Given the description of an element on the screen output the (x, y) to click on. 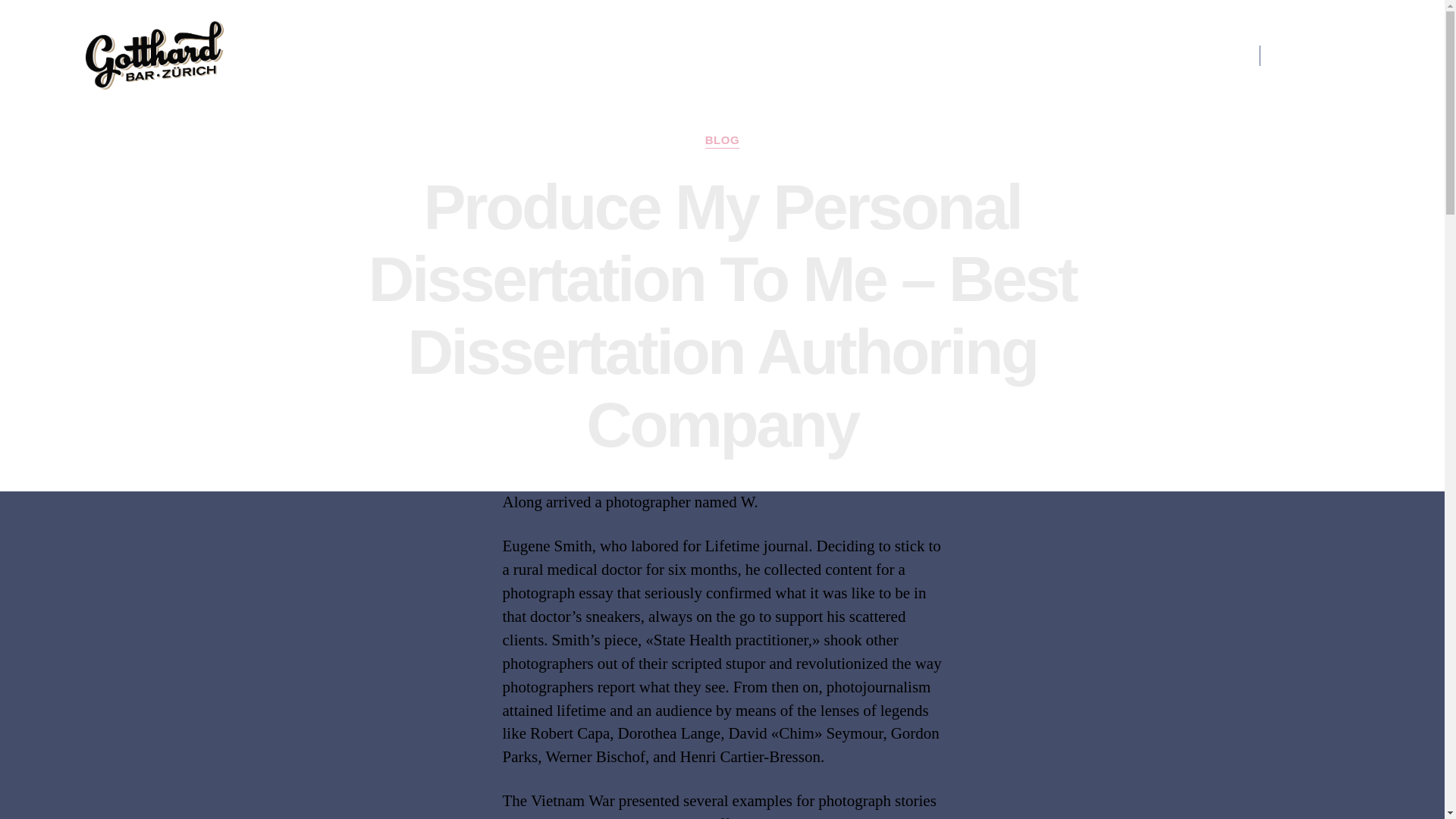
BLOG (721, 140)
Search (1324, 55)
